Given the description of an element on the screen output the (x, y) to click on. 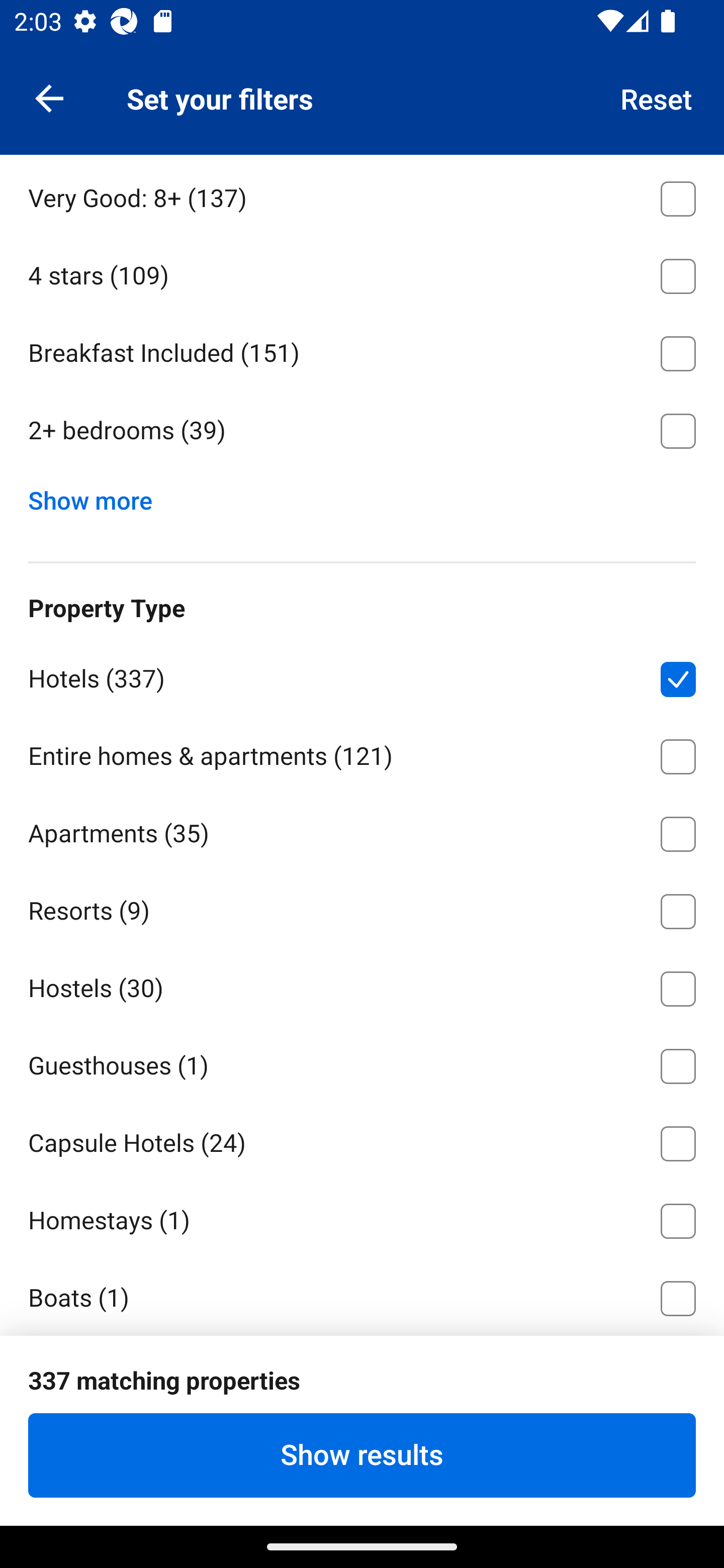
Navigate up (49, 97)
Reset (656, 97)
Very Good: 8+ ⁦(137) (361, 194)
4 stars ⁦(109) (361, 272)
Breakfast Included ⁦(151) (361, 350)
2+ bedrooms ⁦(39) (361, 430)
Show more (97, 496)
Hotels ⁦(337) (361, 675)
Entire homes & apartments ⁦(121) (361, 753)
Apartments ⁦(35) (361, 829)
Resorts ⁦(9) (361, 907)
Hostels ⁦(30) (361, 985)
Guesthouses ⁦(1) (361, 1062)
Capsule Hotels ⁦(24) (361, 1140)
Homestays ⁦(1) (361, 1217)
Boats ⁦(1) (361, 1295)
Show results (361, 1454)
